Given the description of an element on the screen output the (x, y) to click on. 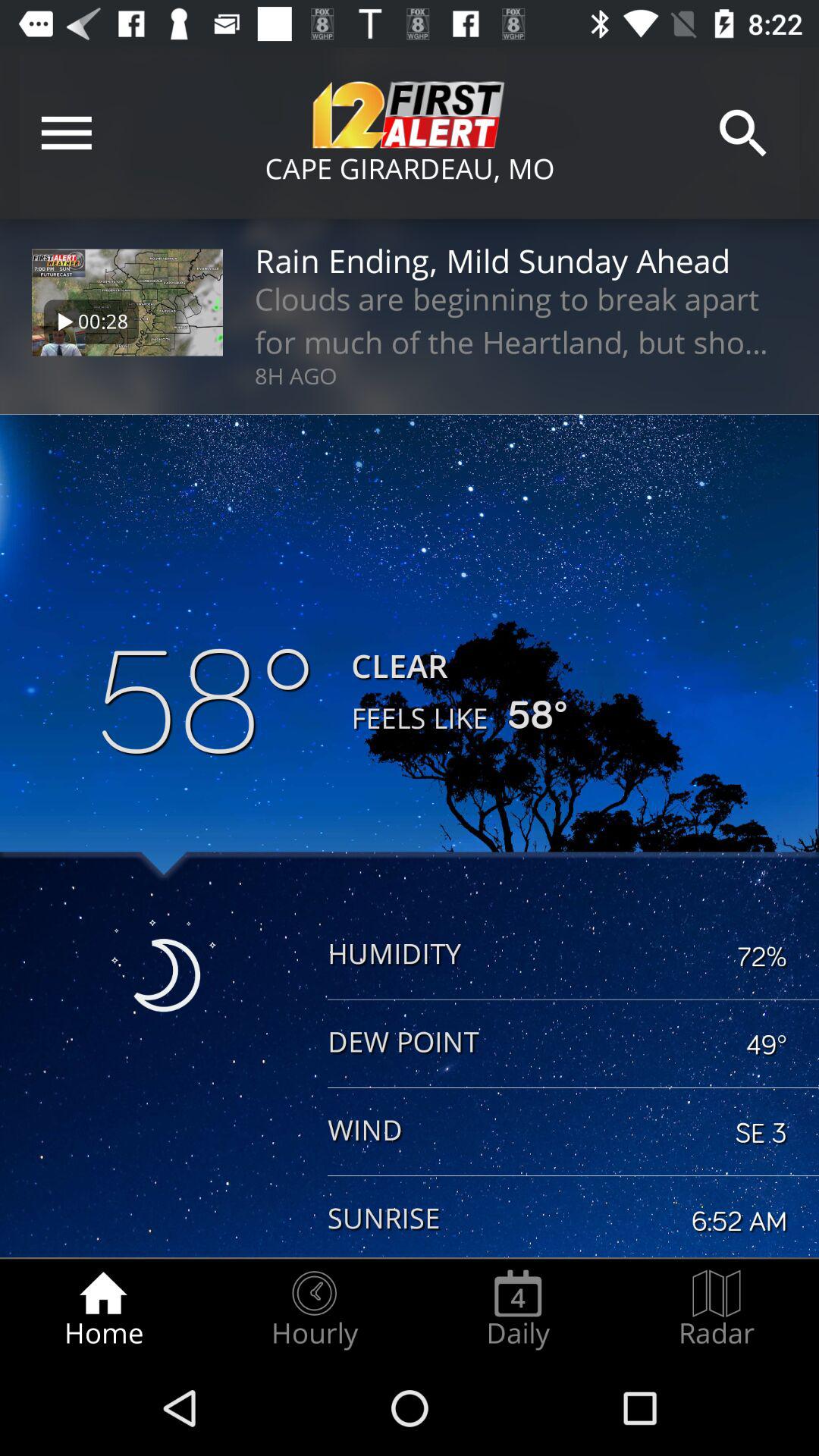
jump until radar radio button (716, 1309)
